Given the description of an element on the screen output the (x, y) to click on. 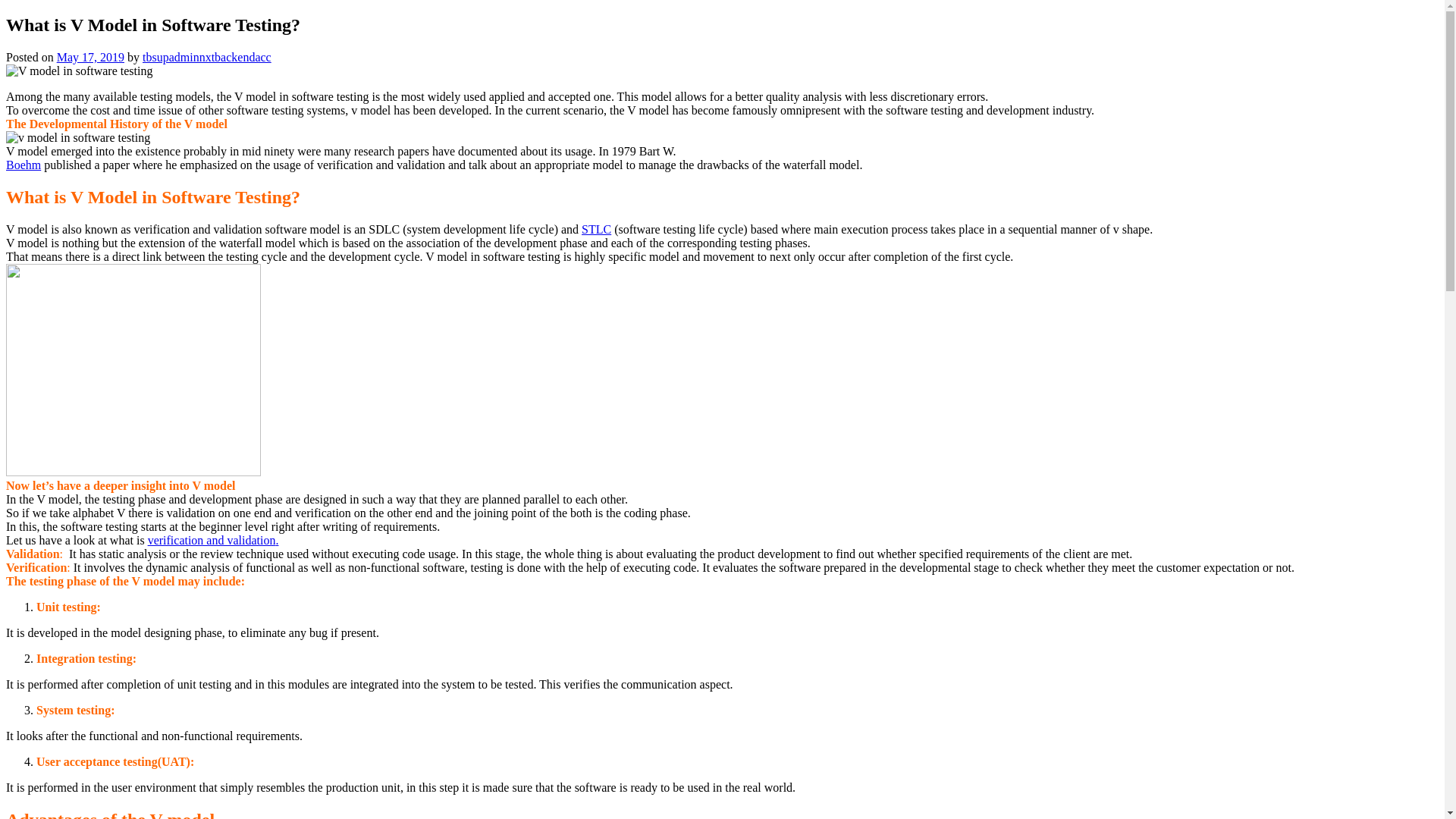
Boehm (22, 164)
tbsupadminnxtbackendacc (206, 56)
May 17, 2019 (89, 56)
verification and validation (212, 540)
STLC (595, 228)
